Given the description of an element on the screen output the (x, y) to click on. 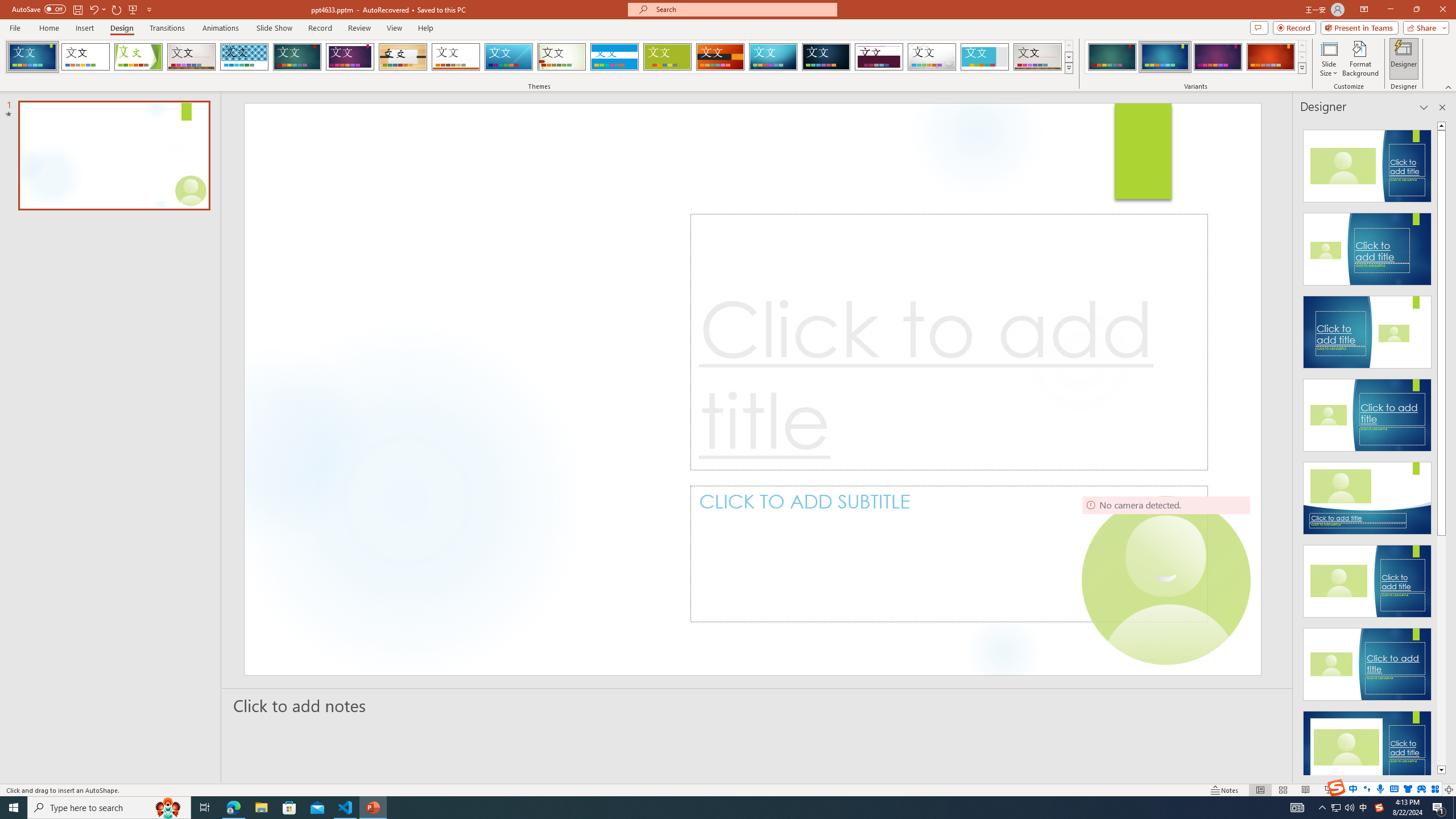
Office Theme (85, 56)
Dividend Loading Preview... (879, 56)
Retrospect Loading Preview... (455, 56)
Recommended Design: Design Idea (1366, 162)
Ion Variant 3 (1217, 56)
Themes (1068, 67)
Gallery Loading Preview... (1037, 56)
Restore Down (1416, 9)
Organic Loading Preview... (403, 56)
More Options (103, 9)
Reading View (1305, 790)
